Given the description of an element on the screen output the (x, y) to click on. 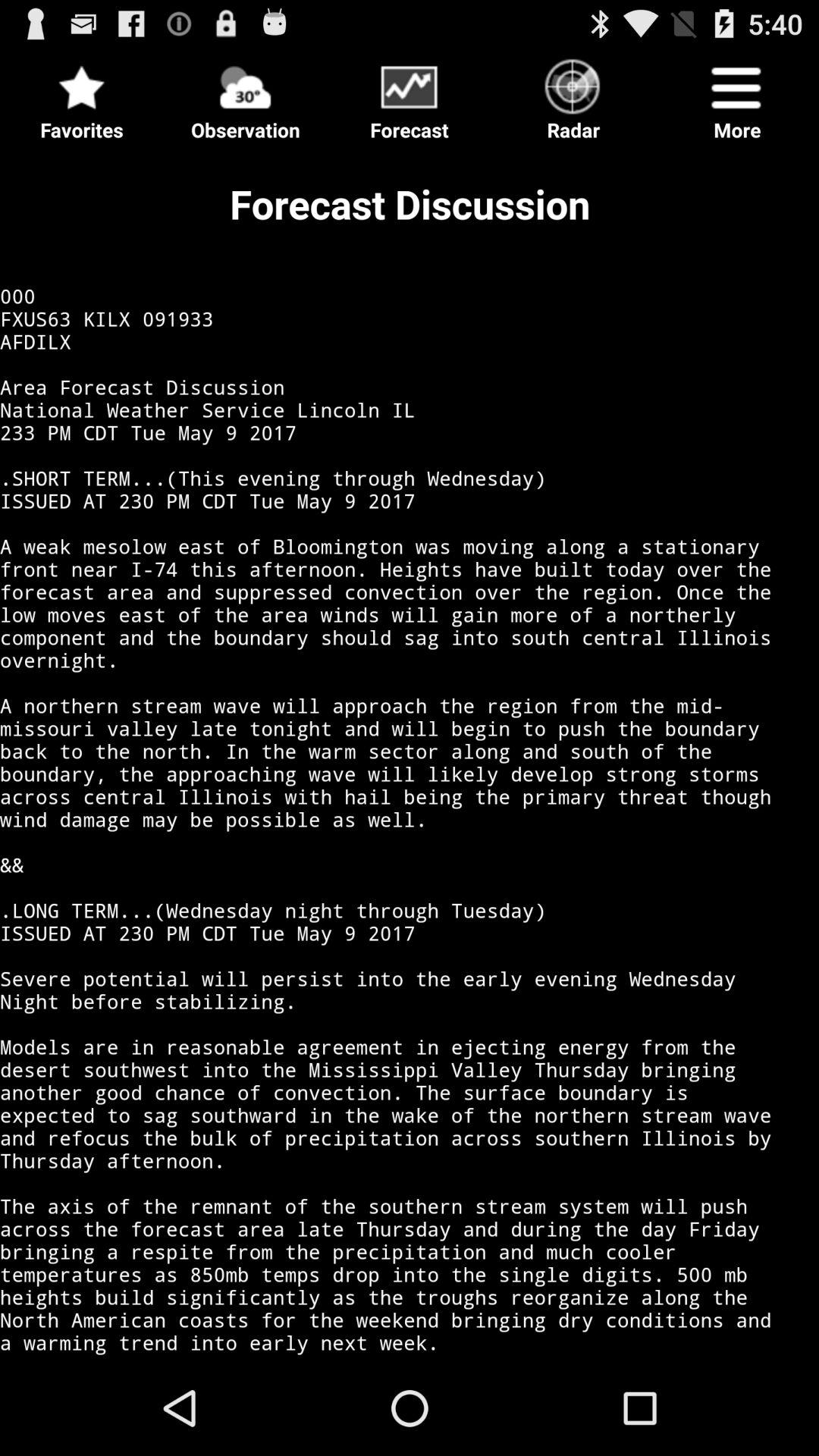
tap the button next to the favorites button (245, 95)
